Given the description of an element on the screen output the (x, y) to click on. 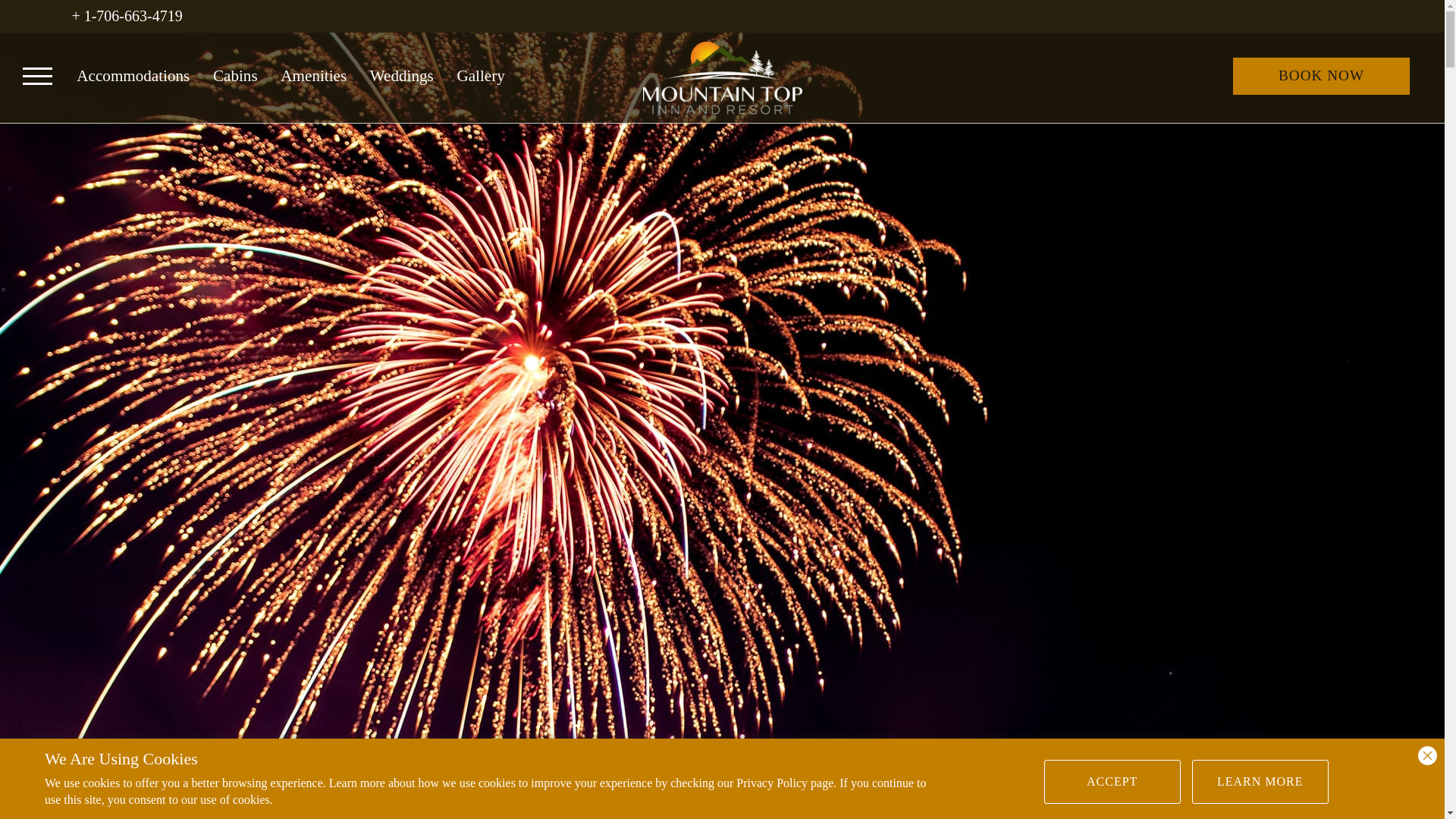
Cabins (234, 75)
BOOK NOW (1054, 790)
Gallery (480, 75)
Accommodations (133, 75)
Weddings (401, 75)
Weddings (401, 75)
Amenities (313, 75)
Cabins (234, 75)
Amenities  (313, 75)
Accommodations (133, 75)
